Given the description of an element on the screen output the (x, y) to click on. 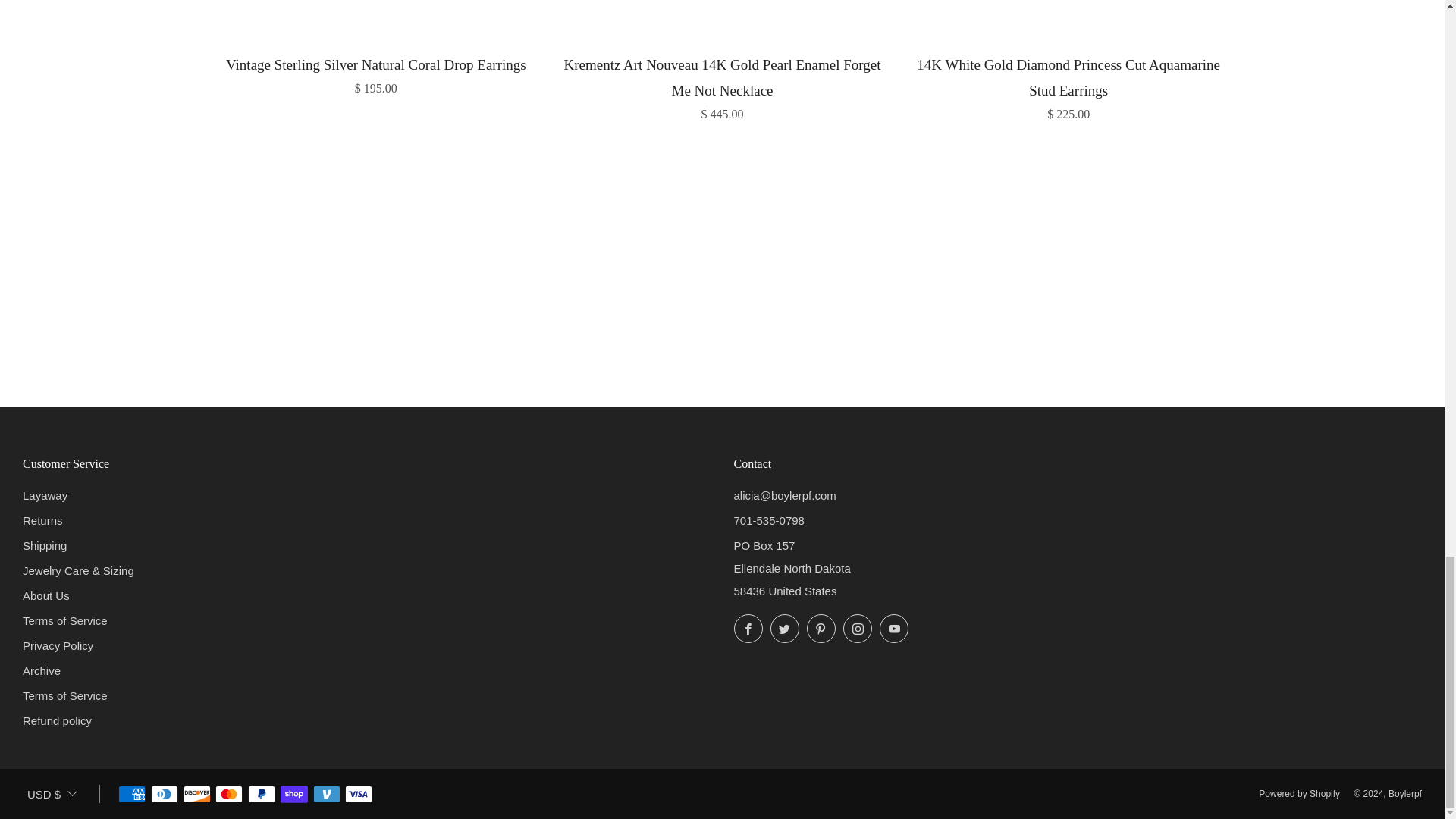
14K White Gold Diamond Princess Cut Aquamarine Stud Earrings (1068, 86)
Vintage Sterling Silver Natural Coral Drop Earrings (376, 73)
